Given the description of an element on the screen output the (x, y) to click on. 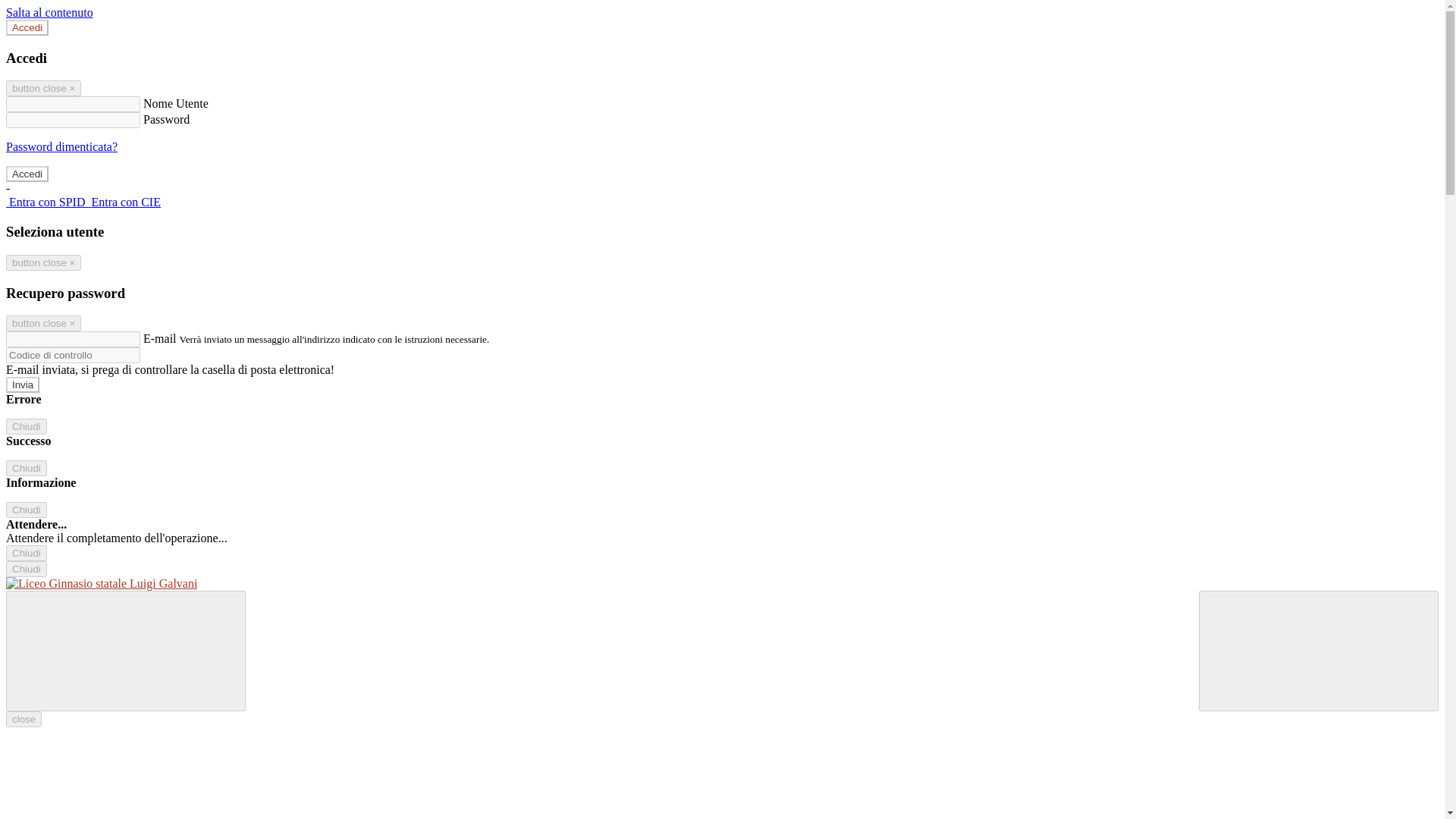
Chiudi (25, 426)
Chiudi (25, 553)
Chiudi (25, 569)
Password dimenticata? (61, 146)
close (23, 719)
Salta al contenuto (49, 11)
Invia (22, 384)
Accedi (26, 27)
Chiudi (25, 467)
Accedi (26, 173)
Entra con SPID (46, 201)
Entra con CIE (123, 201)
Chiudi (25, 509)
